Given the description of an element on the screen output the (x, y) to click on. 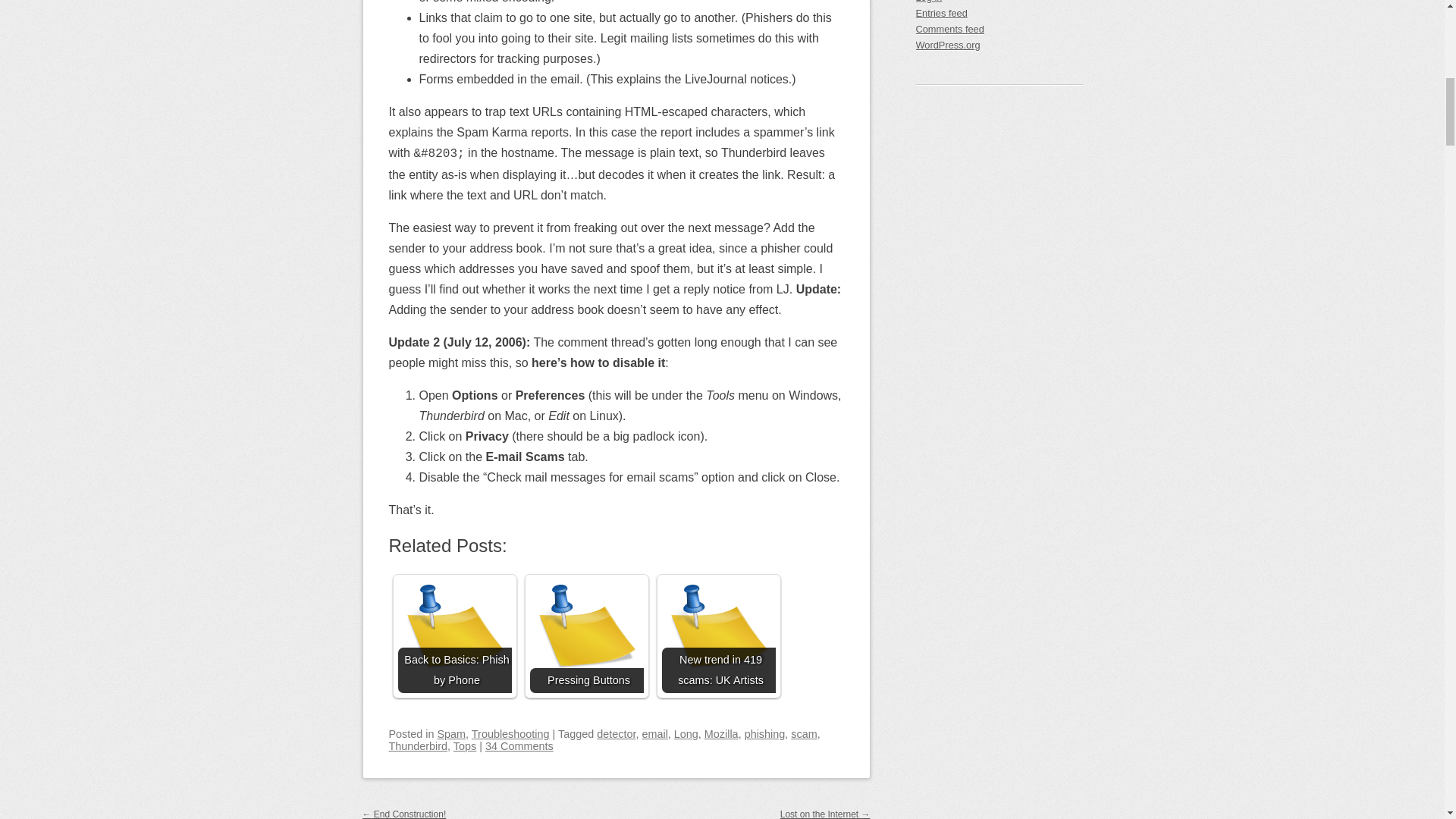
phishing (765, 734)
New trend in 419 scams: UK Artists (717, 635)
scam (803, 734)
Troubleshooting (510, 734)
detector (615, 734)
New trend in 419 scams: UK Artists (717, 635)
34 Comments (518, 746)
Spam (451, 734)
Thunderbird (417, 746)
Pressing Buttons (586, 635)
Back to Basics: Phish by Phone (454, 635)
Pressing Buttons (586, 635)
Tops (464, 746)
Long (686, 734)
email (654, 734)
